Given the description of an element on the screen output the (x, y) to click on. 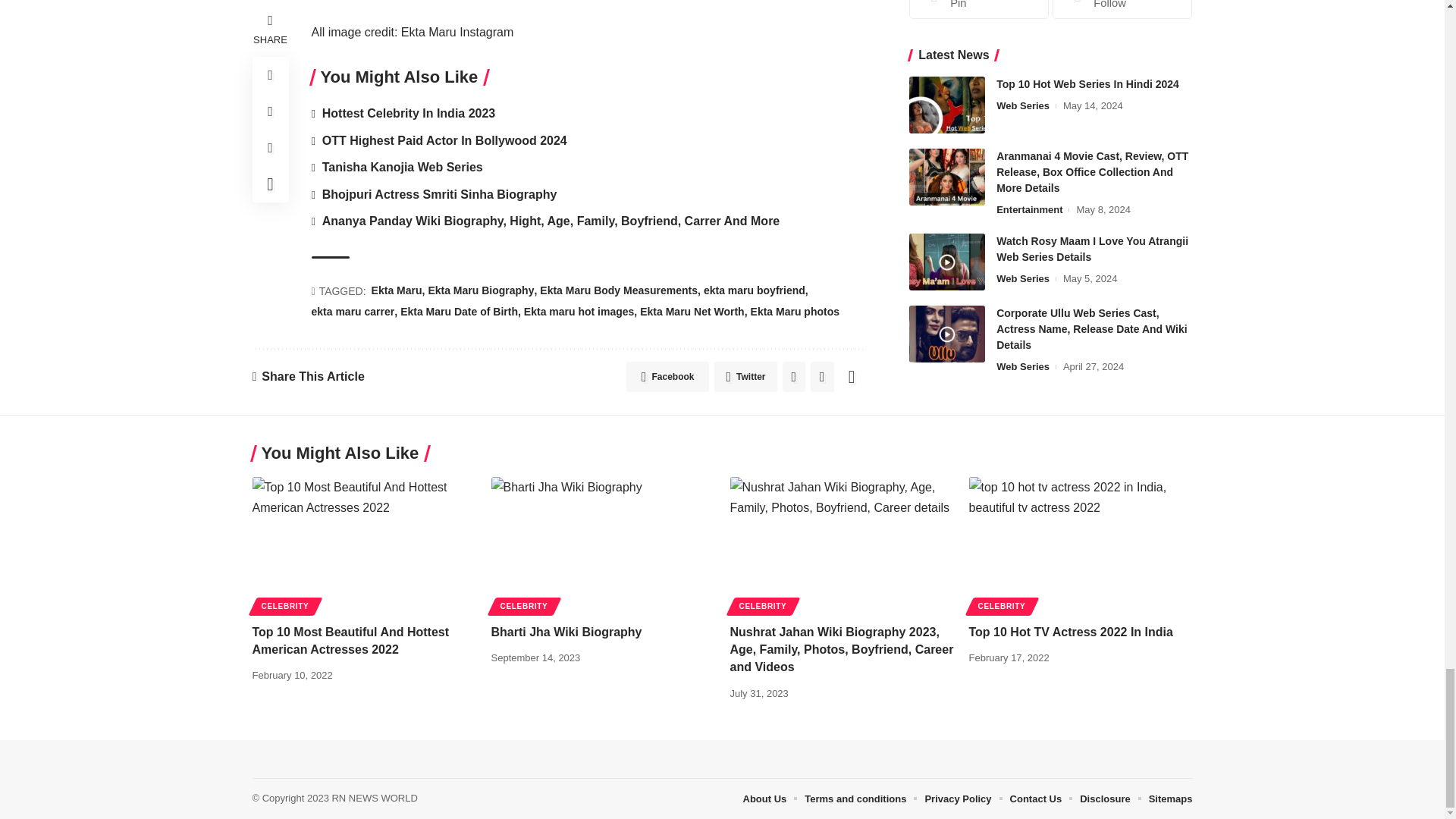
Bharti Jha Wiki Biography (603, 543)
Top 10 Most Beautiful And Hottest American Actresses 2022 (363, 543)
Top 10 Hot TV Actress 2022 In India (1080, 543)
